Given the description of an element on the screen output the (x, y) to click on. 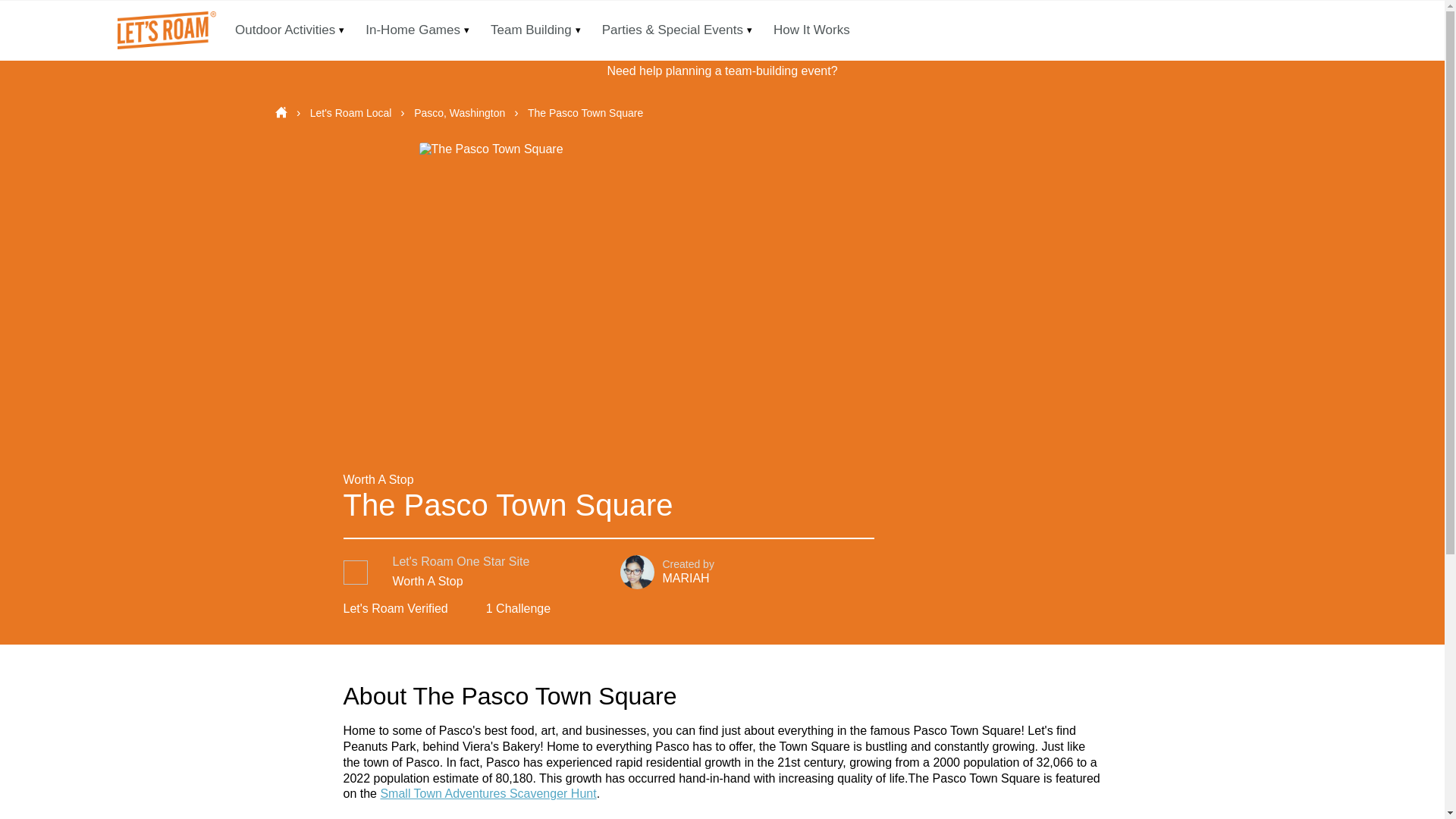
Outdoor Activities (284, 30)
Pasco, Washington (460, 112)
Team Building (531, 30)
How It Works (811, 30)
In-Home Games (413, 30)
In-Home Games (413, 30)
Let's Roam Local (352, 112)
Team Building (531, 30)
Outdoor Activities (284, 30)
The Pasco Town Square (585, 112)
Let's Roam Scavenger Hunts (164, 30)
